Given the description of an element on the screen output the (x, y) to click on. 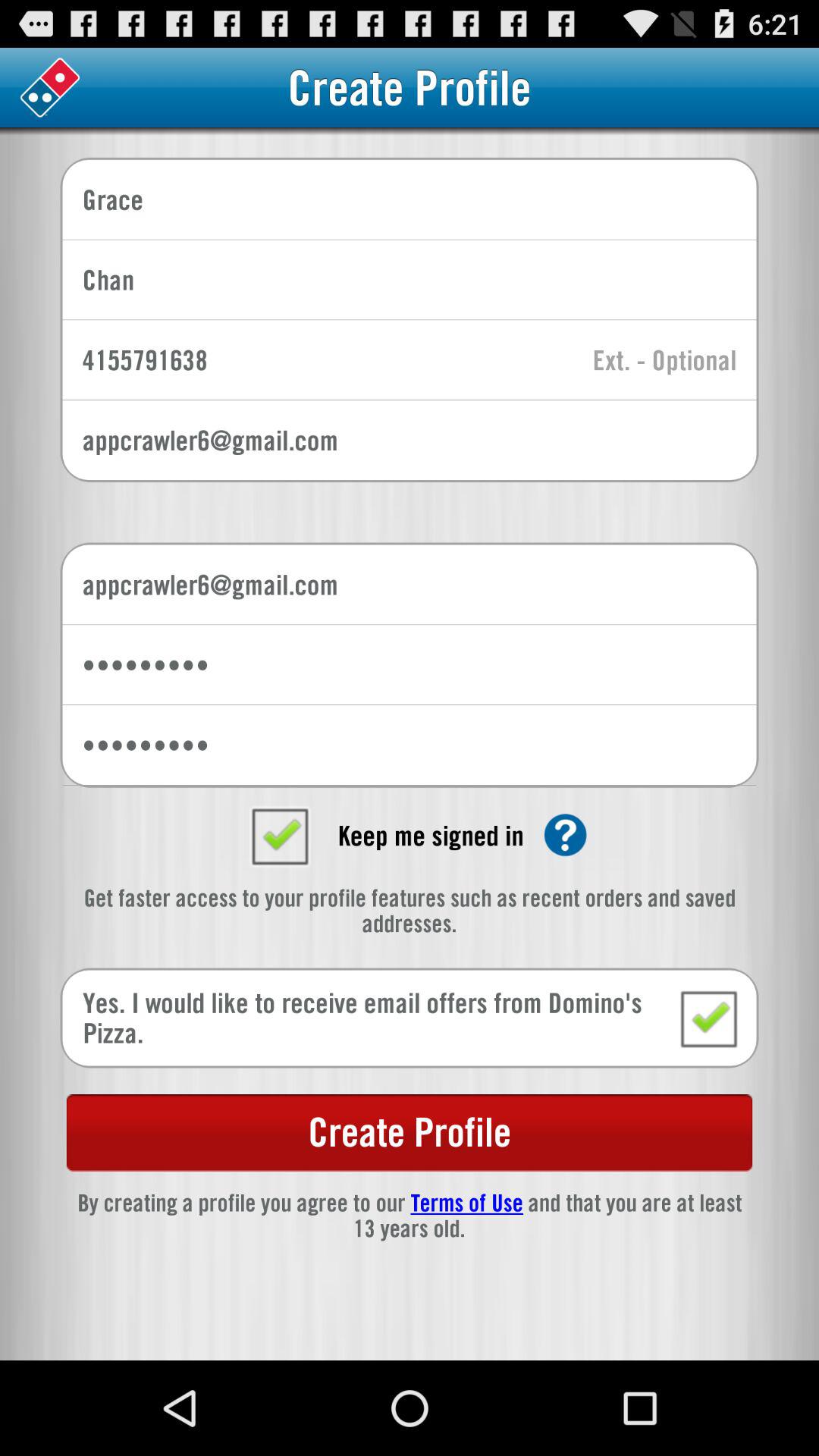
set to unchecked (279, 835)
